Given the description of an element on the screen output the (x, y) to click on. 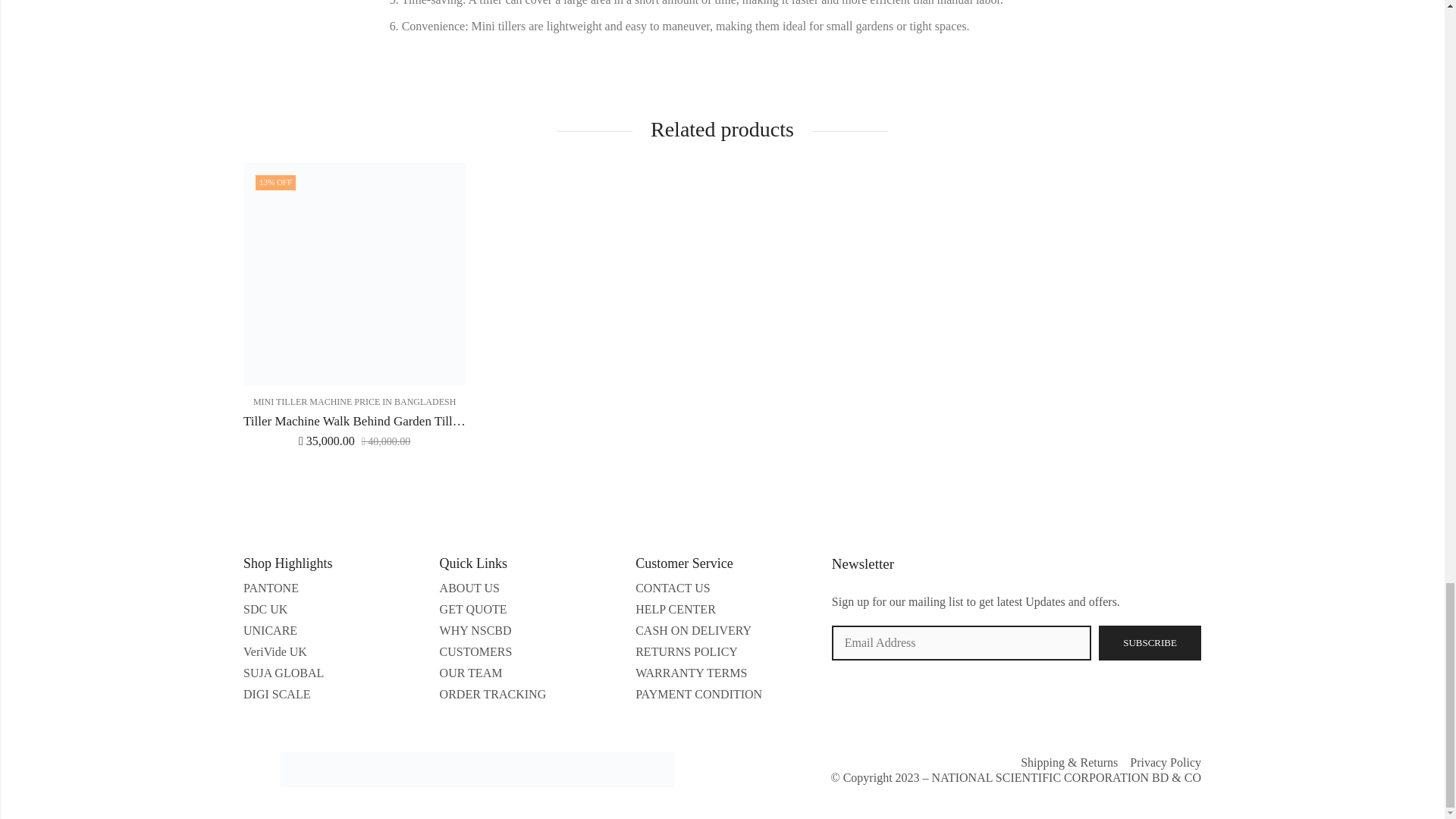
Subscribe (1150, 642)
